Given the description of an element on the screen output the (x, y) to click on. 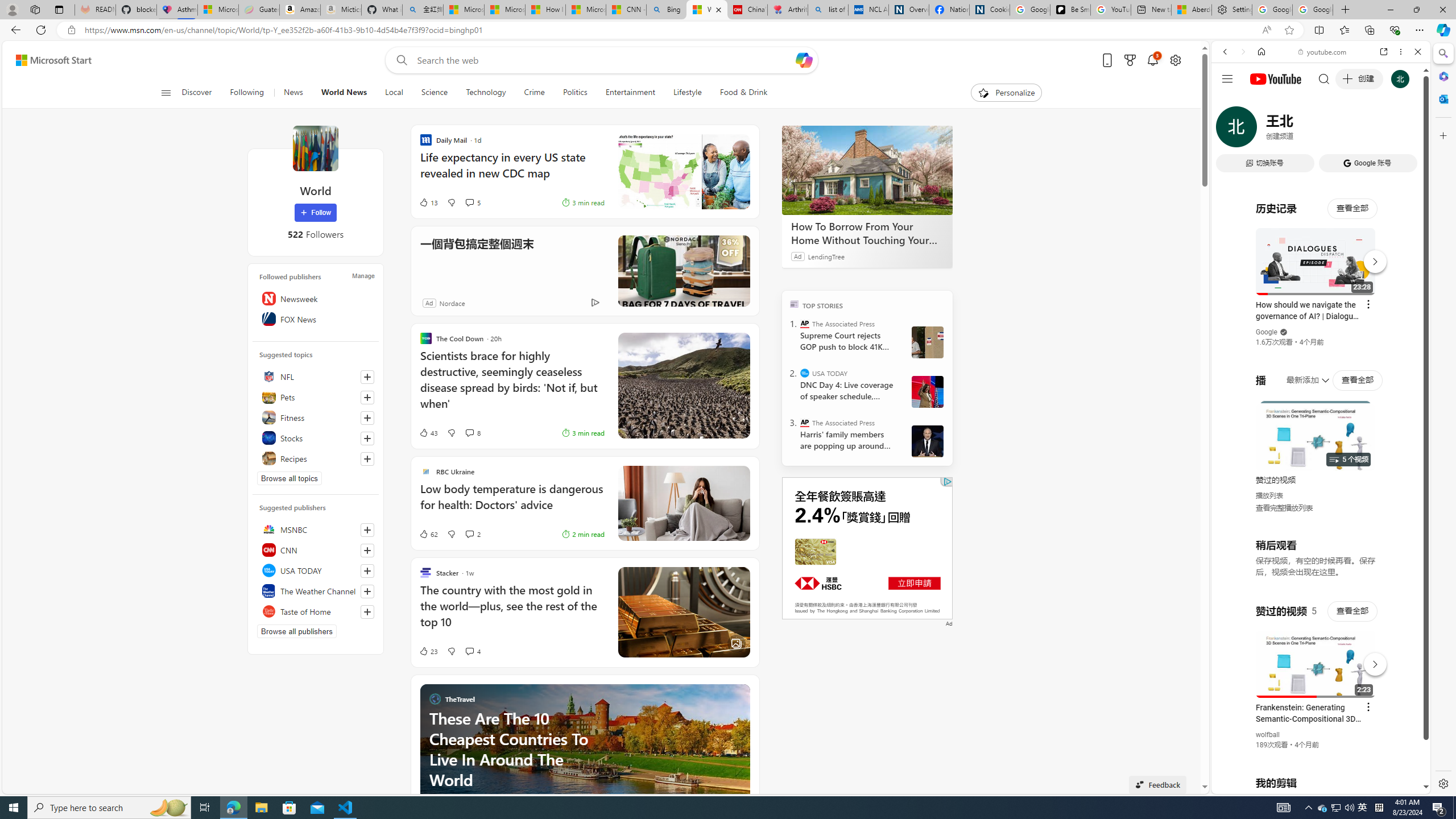
Be Smart | creating Science videos | Patreon (1069, 9)
Class: b_serphb (1404, 130)
Music (1320, 309)
Open navigation menu (164, 92)
Microsoft rewards (1129, 60)
13 Like (427, 202)
US[ju] (1249, 785)
